Given the description of an element on the screen output the (x, y) to click on. 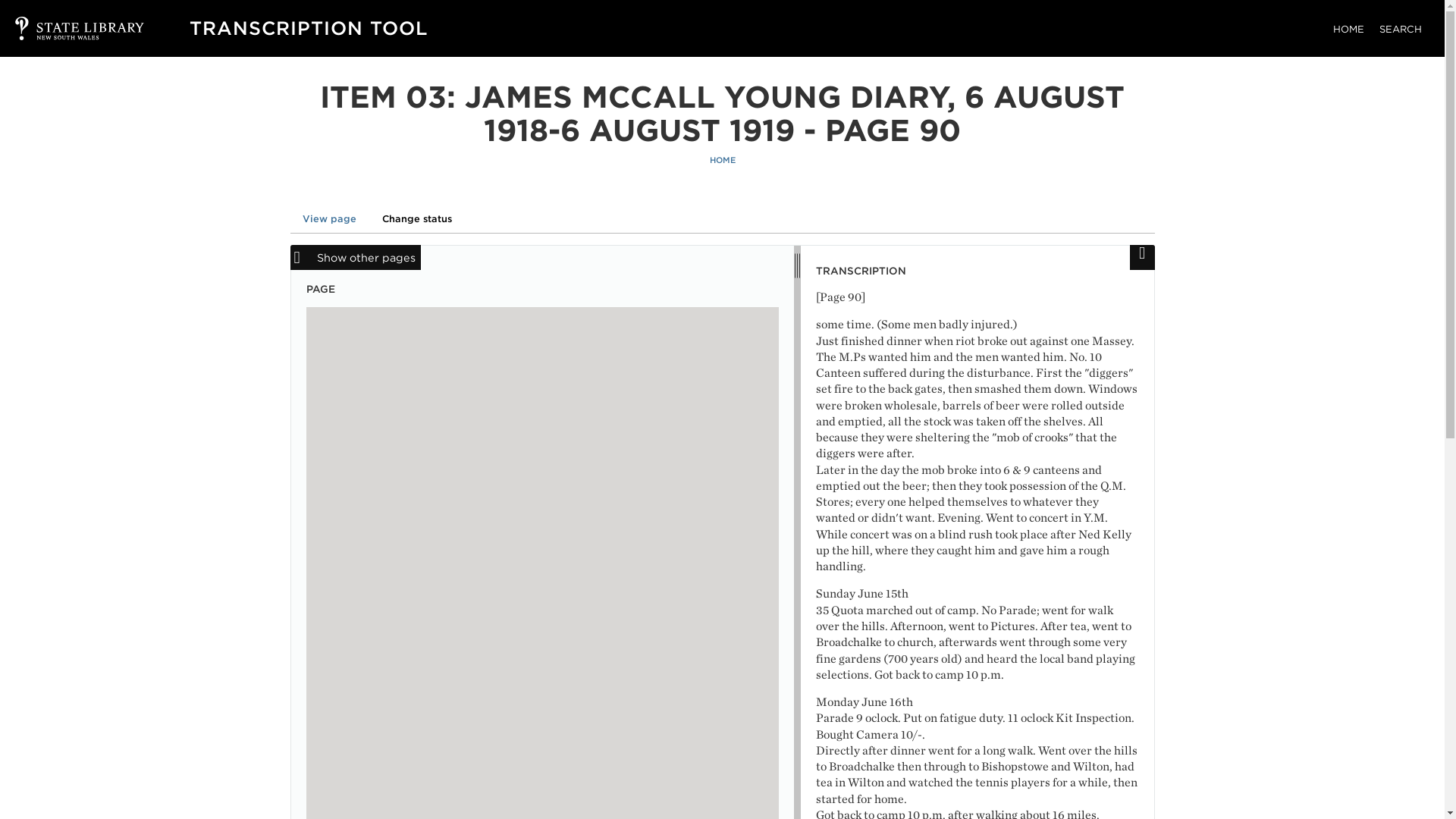
SEARCH (1400, 29)
Change status (416, 218)
HOME (1348, 29)
View page (328, 218)
State Library of NSW (64, 28)
Home (308, 27)
TRANSCRIPTION TOOL (308, 27)
HOME (722, 160)
